Given the description of an element on the screen output the (x, y) to click on. 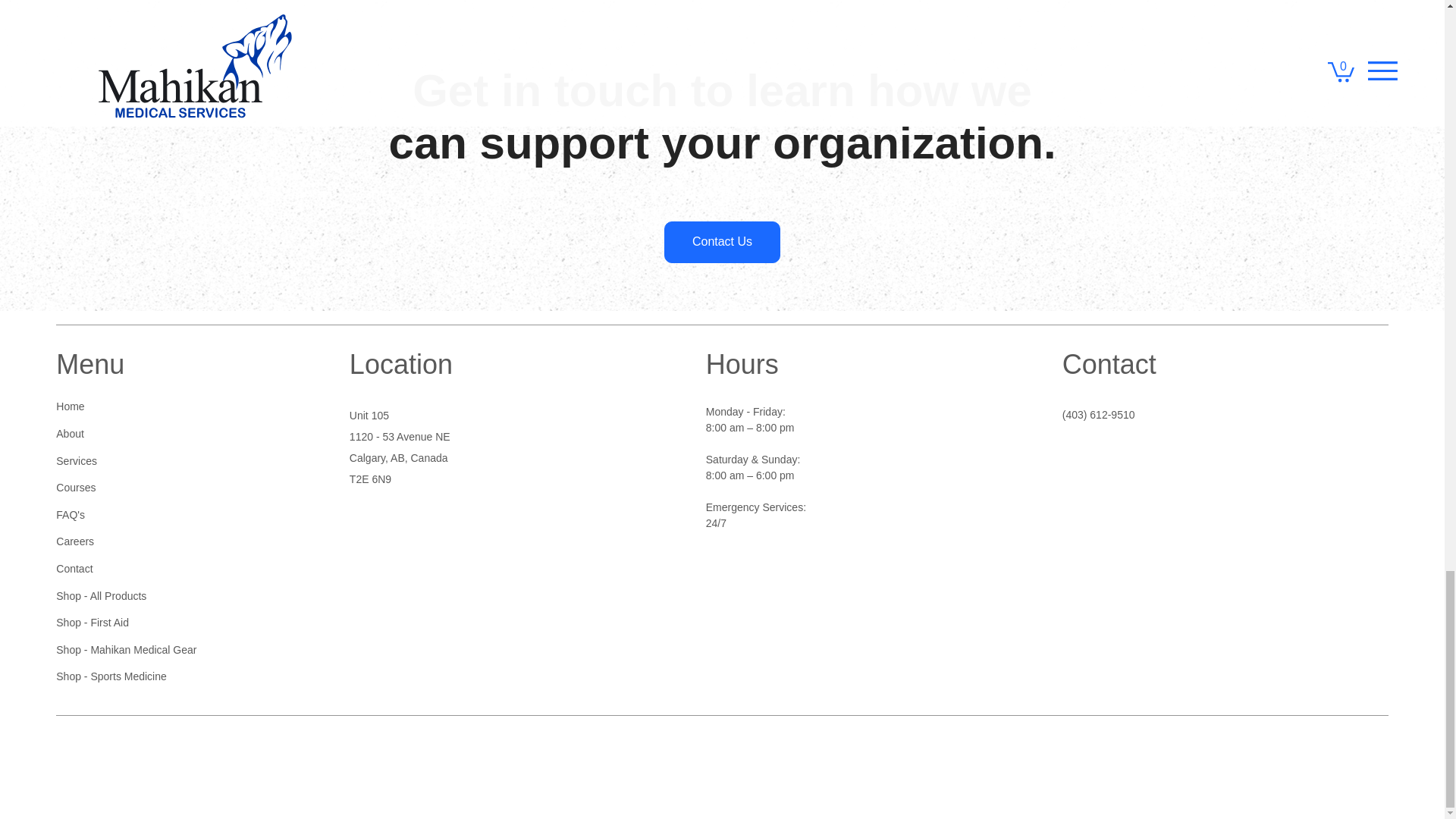
Contact (172, 569)
Shop - Sports Medicine (172, 677)
Shop - All Products (172, 595)
FAQ's (172, 515)
About (172, 433)
Services (172, 461)
Shop - First Aid (172, 623)
Contact Us (720, 241)
Shop - Mahikan Medical Gear (172, 650)
Courses (172, 488)
Careers (172, 542)
Home (172, 406)
